Given the description of an element on the screen output the (x, y) to click on. 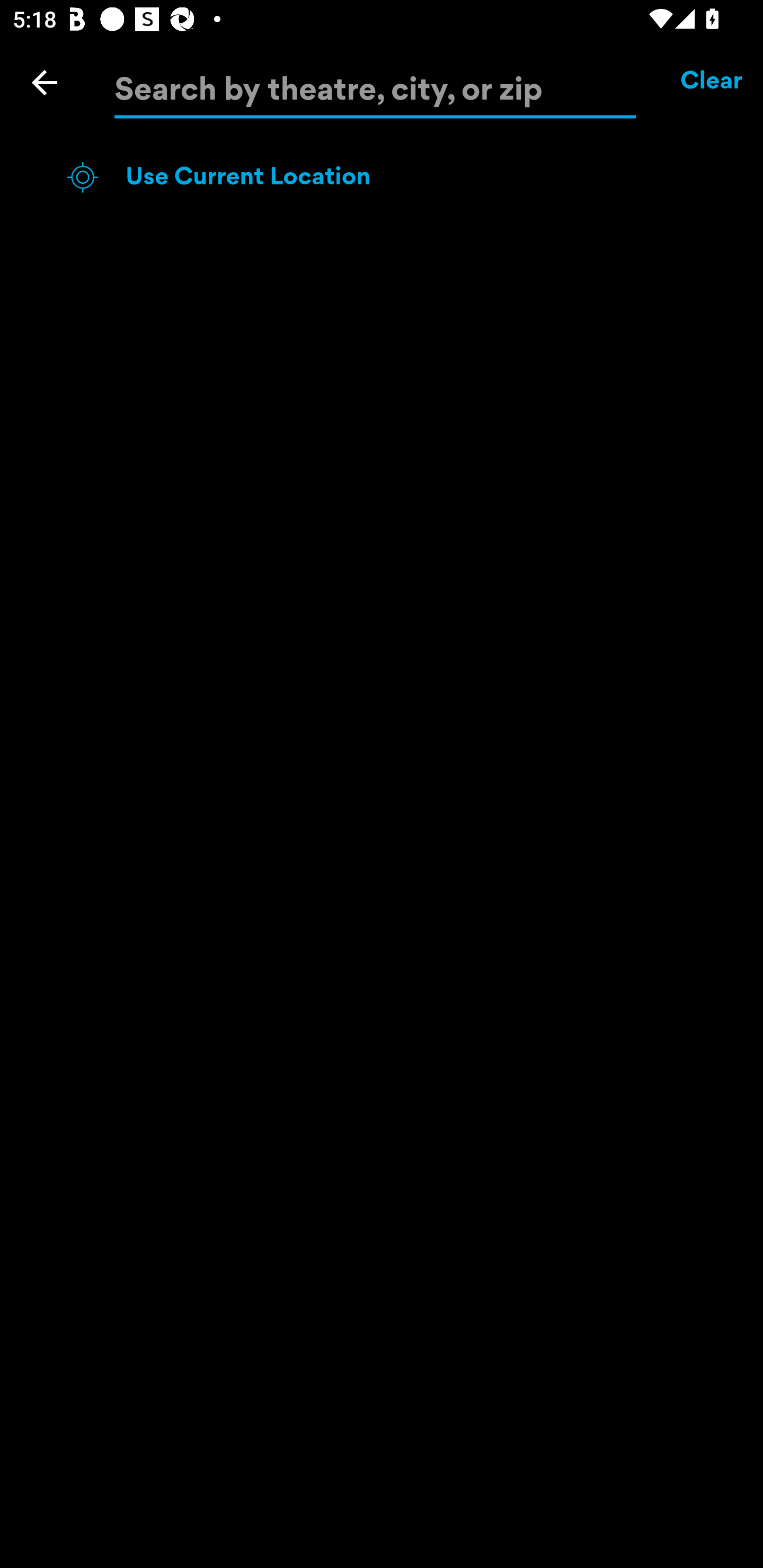
Back (44, 82)
Clear (712, 82)
Use Current Location (413, 177)
